Given the description of an element on the screen output the (x, y) to click on. 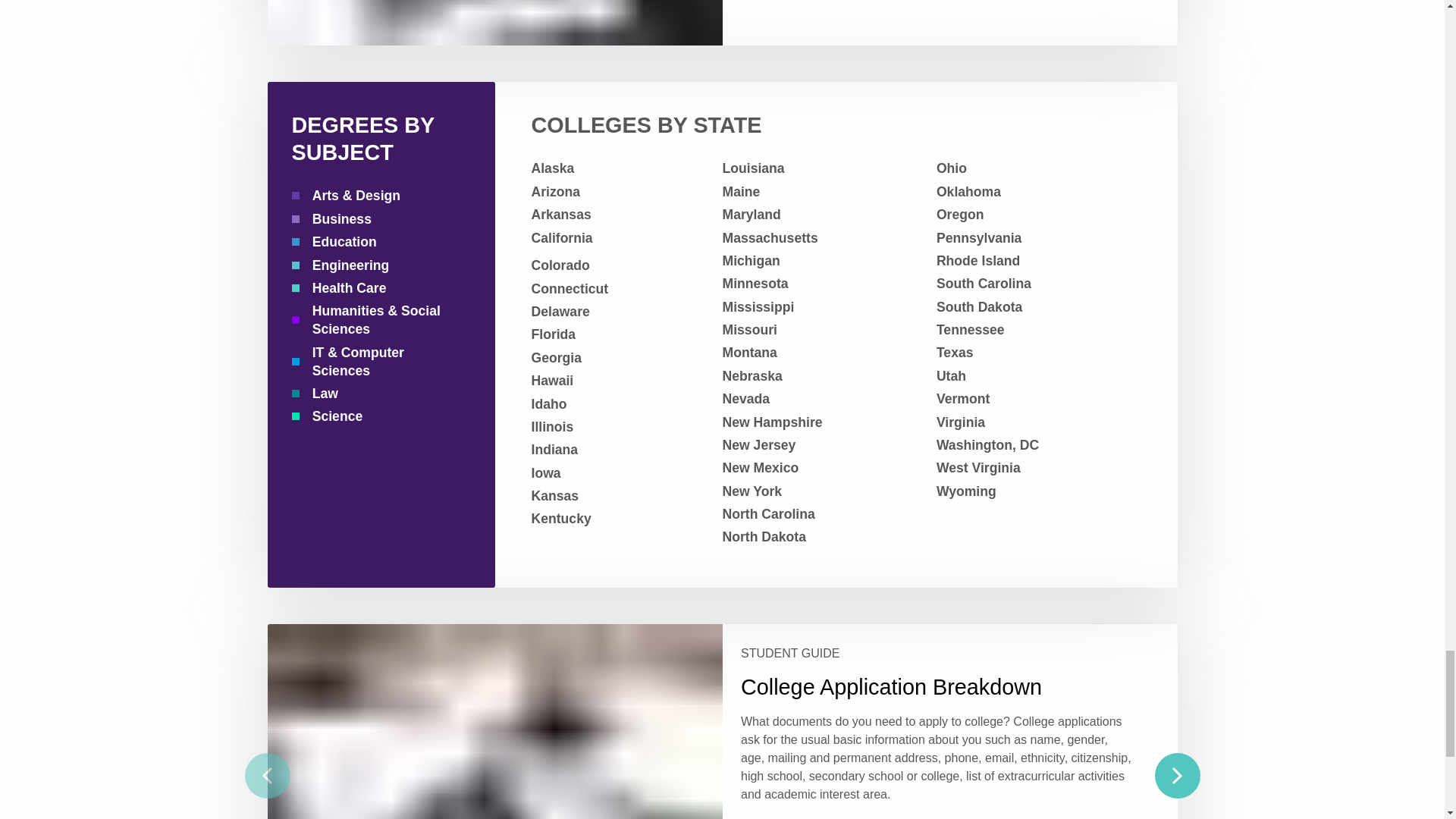
Business (374, 218)
Science (374, 416)
California (620, 238)
Student Guide (935, 654)
Law (374, 393)
Health Care (374, 288)
Engineering (374, 265)
Education (374, 241)
Arizona (620, 191)
Arkansas (620, 214)
Alaska (620, 167)
Colorado (620, 265)
